Given the description of an element on the screen output the (x, y) to click on. 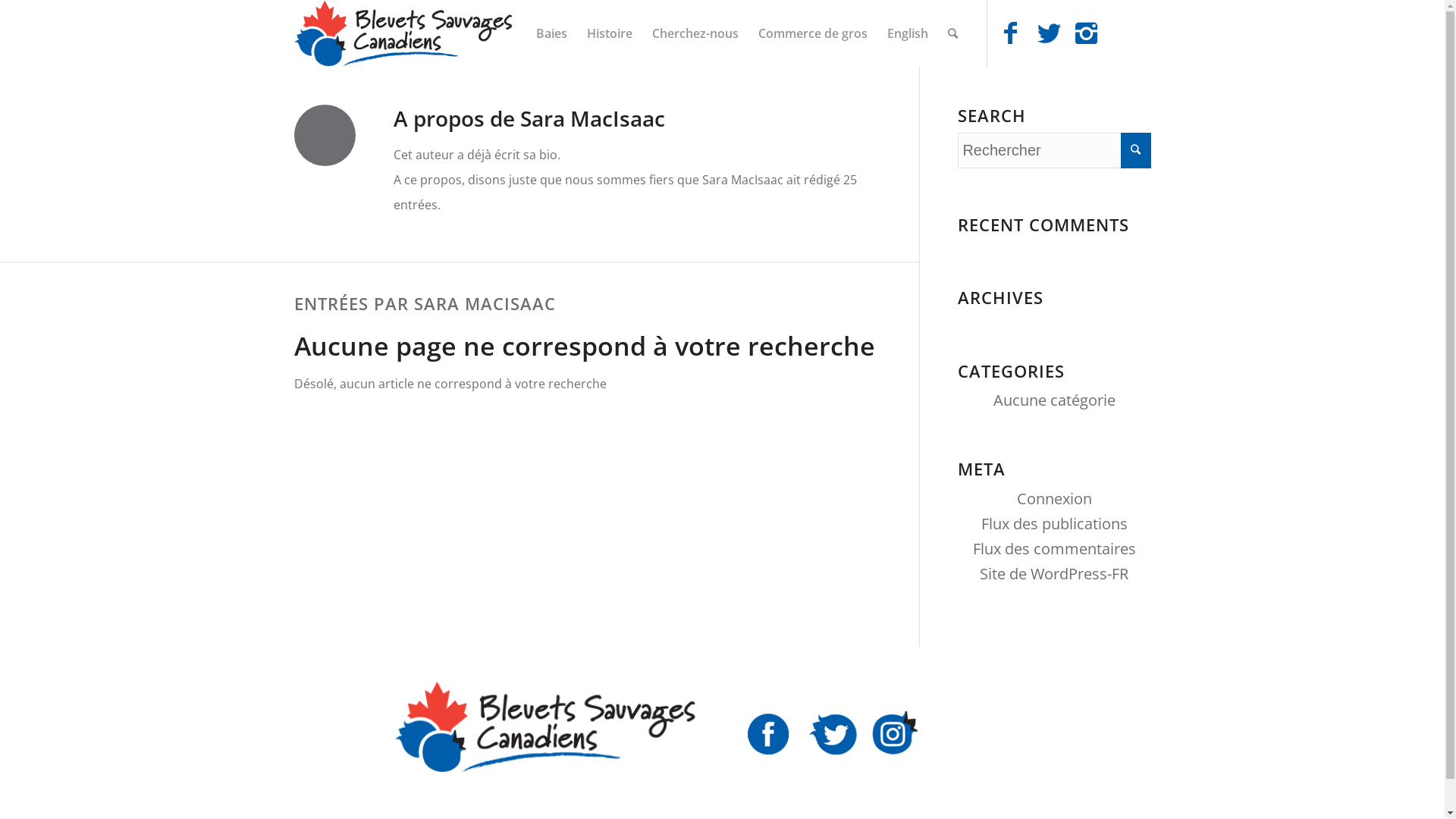
Connexion Element type: text (1054, 498)
Flux des commentaires Element type: text (1053, 548)
Baies Element type: text (551, 33)
Flux des publications Element type: text (1054, 523)
Commerce de gros Element type: text (811, 33)
Facebook Element type: hover (1010, 32)
Twitter Element type: hover (1048, 32)
English Element type: text (906, 33)
Site de WordPress-FR Element type: text (1053, 573)
Cherchez-nous Element type: text (694, 33)
Histoire Element type: text (608, 33)
Instagram Element type: hover (1086, 32)
